Given the description of an element on the screen output the (x, y) to click on. 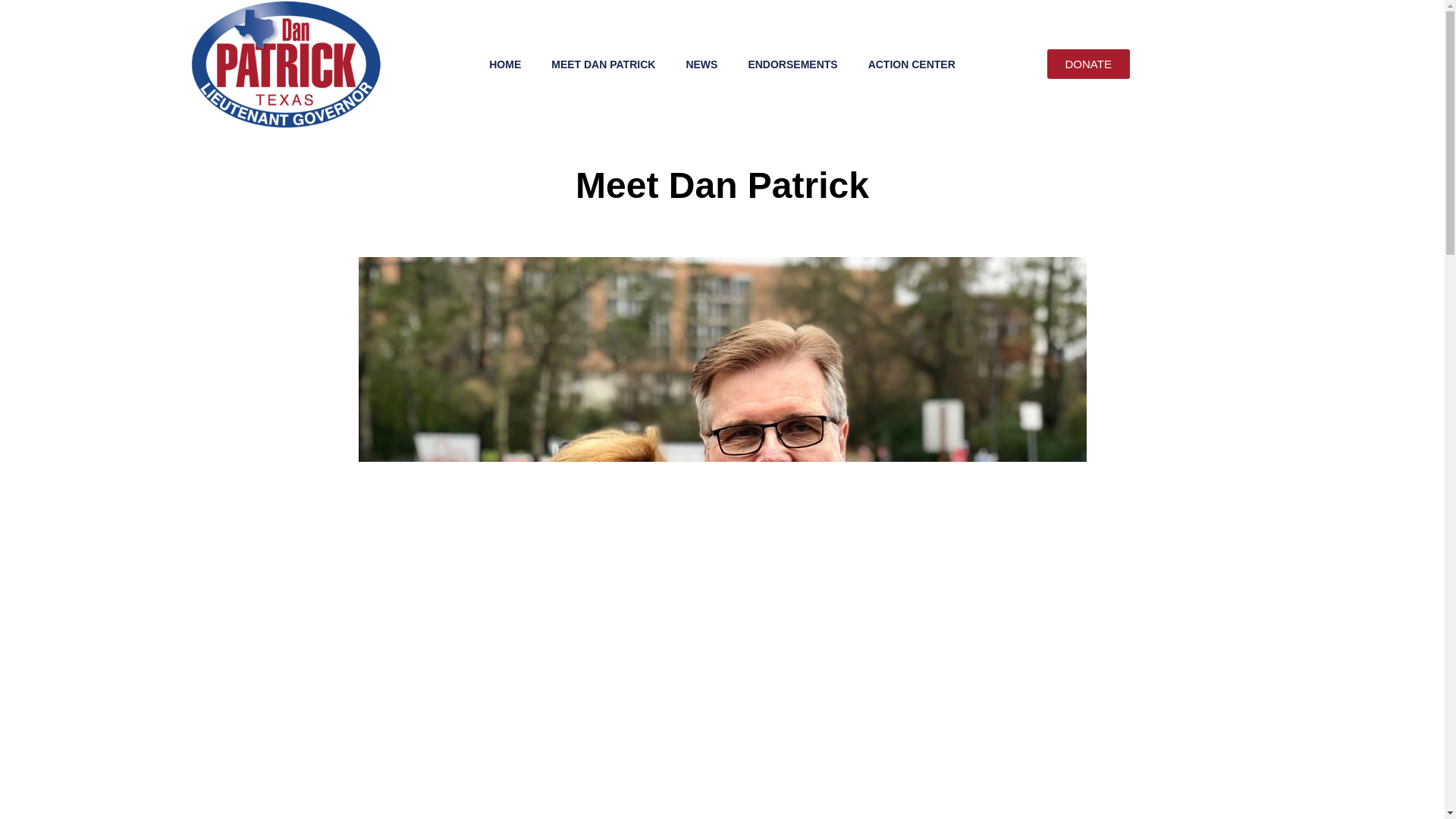
DONATE (1087, 63)
NEWS (700, 63)
MEET DAN PATRICK (602, 63)
ENDORSEMENTS (791, 63)
HOME (504, 63)
ACTION CENTER (912, 63)
